Given the description of an element on the screen output the (x, y) to click on. 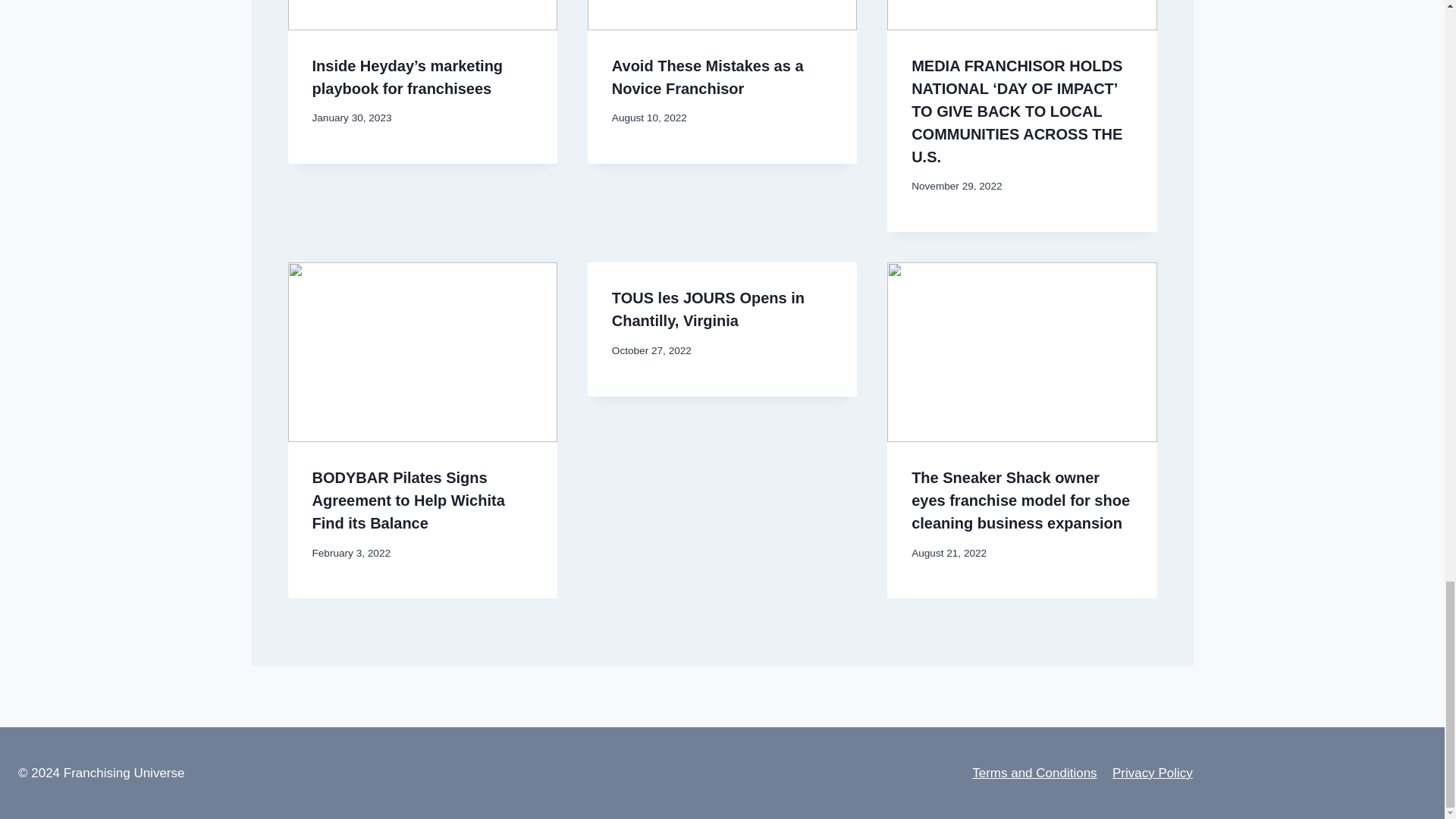
Privacy Policy (1152, 773)
Avoid These Mistakes as a Novice Franchisor  (707, 77)
Terms and Conditions (1034, 773)
TOUS les JOURS Opens in Chantilly, Virginia (708, 309)
